Given the description of an element on the screen output the (x, y) to click on. 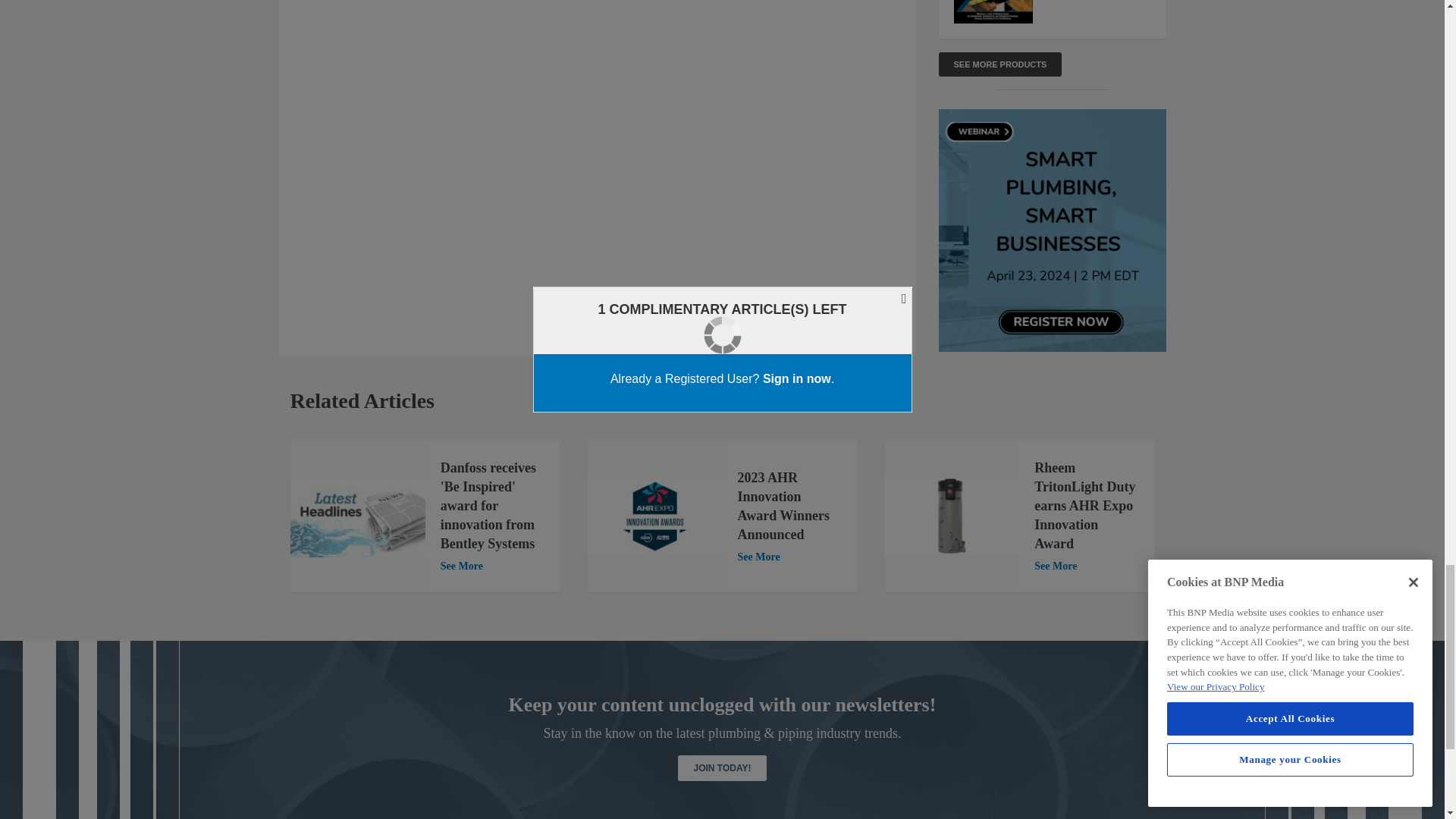
Headlines (357, 516)
AHR-Expo-Innovation-Awards.jpg (654, 516)
Rheem.gif (951, 515)
